Given the description of an element on the screen output the (x, y) to click on. 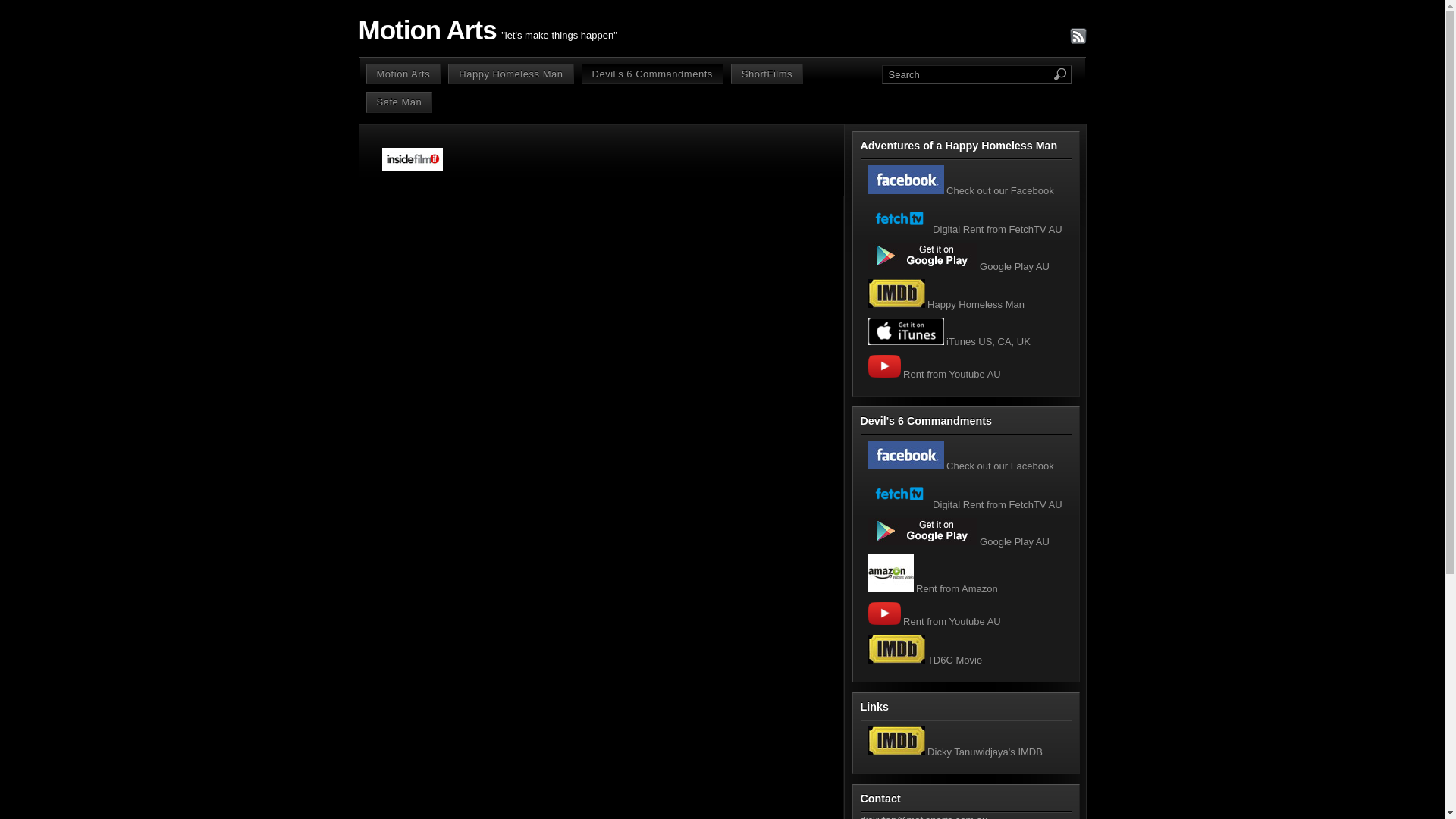
Google Play Australia Element type: hover (921, 255)
Digital Rent from FetchTV AU Element type: text (964, 504)
Digital Rent/Buy Element type: hover (898, 217)
Check out our Facebook Element type: text (960, 465)
Rent from Youtube AU Element type: text (933, 373)
Google Play AU Element type: text (957, 266)
Amazon Video Direct Element type: hover (890, 573)
Rent from Amazon Element type: text (932, 588)
Safe Man Element type: text (398, 101)
Happy Homeless Man Element type: text (945, 304)
YouTube AU Element type: hover (883, 613)
Digital Rent from FetchTV AU Element type: text (964, 229)
Like It in Facebook Element type: hover (905, 179)
Rent from Youtube AU Element type: text (933, 621)
IMDB page Element type: hover (895, 293)
TD6C Facebook page Element type: hover (905, 454)
Motion Arts Element type: text (402, 73)
TD6C Movie Element type: text (924, 659)
Digital Rent/Buy Element type: hover (898, 493)
Google Play AU Element type: text (957, 541)
Dicky Tanuwidjaya's IMDB Element type: text (954, 751)
Youtube AU Element type: hover (883, 365)
Buy / Rent from iTunes Element type: hover (905, 331)
IMDB page Element type: hover (895, 648)
Check out our Facebook Element type: text (960, 190)
Google Play Australia Element type: hover (921, 531)
ShortFilms Element type: text (767, 73)
iTunes US, CA, UK Element type: text (948, 341)
IMDB page Element type: hover (895, 740)
Happy Homeless Man Element type: text (510, 73)
Motion Arts Element type: text (426, 30)
